Given the description of an element on the screen output the (x, y) to click on. 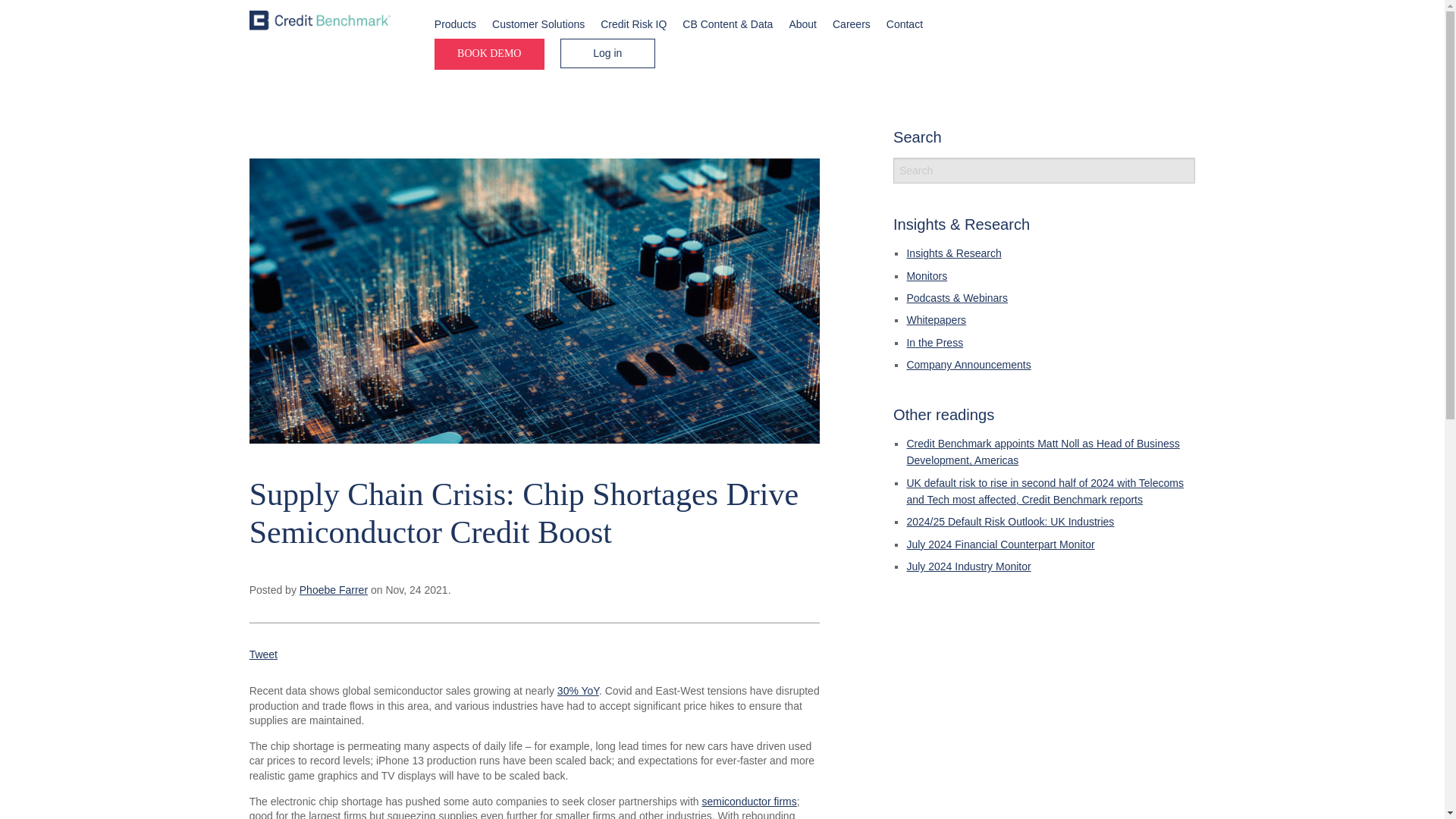
Customer Solutions (538, 24)
Posts by Phoebe Farrer (333, 589)
Products (454, 24)
